Given the description of an element on the screen output the (x, y) to click on. 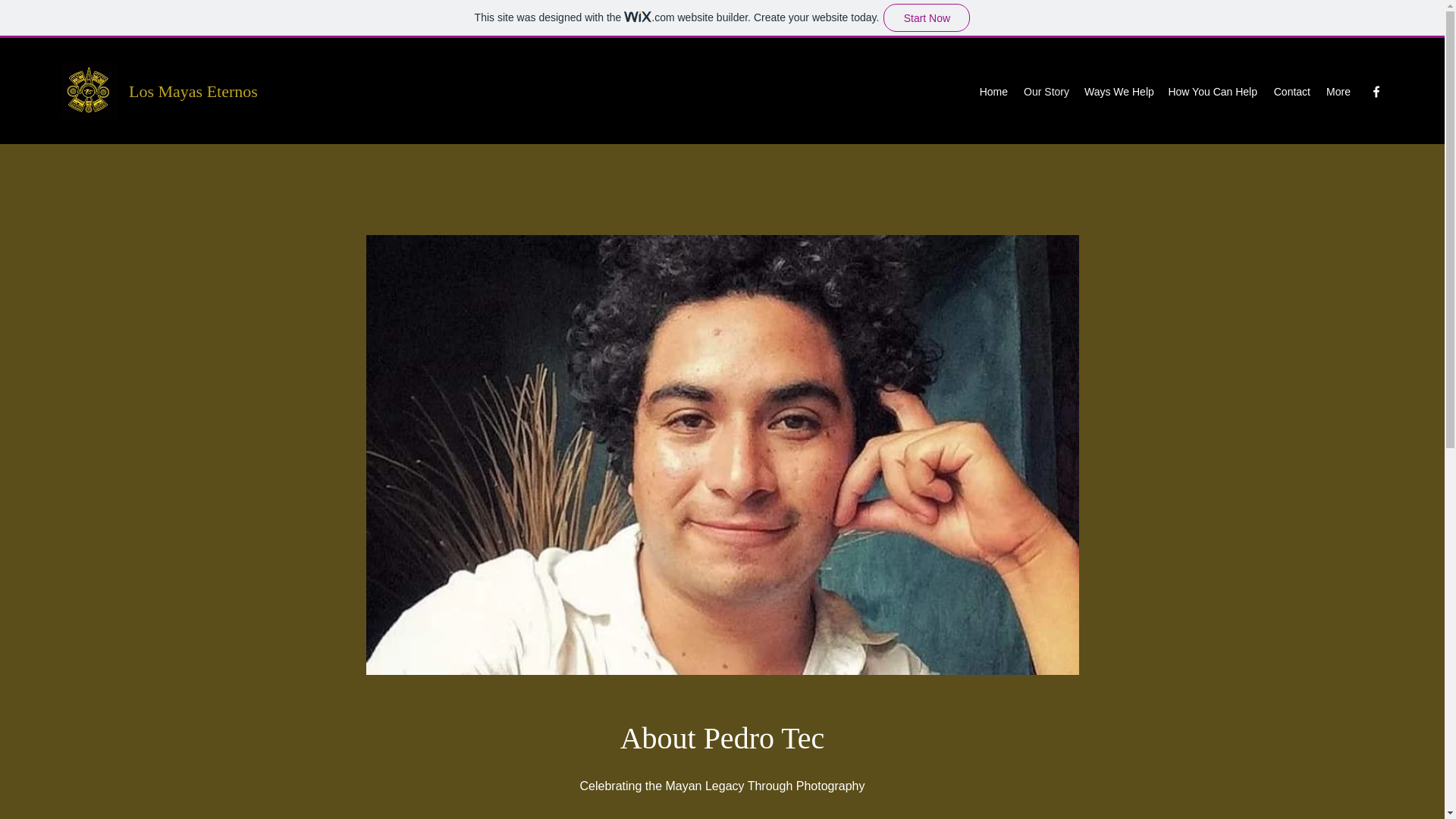
How You Can Help (1212, 91)
Ways We Help (1118, 91)
Our Story (1045, 91)
Los Mayas Eternos (193, 90)
Home (992, 91)
Contact (1291, 91)
